Given the description of an element on the screen output the (x, y) to click on. 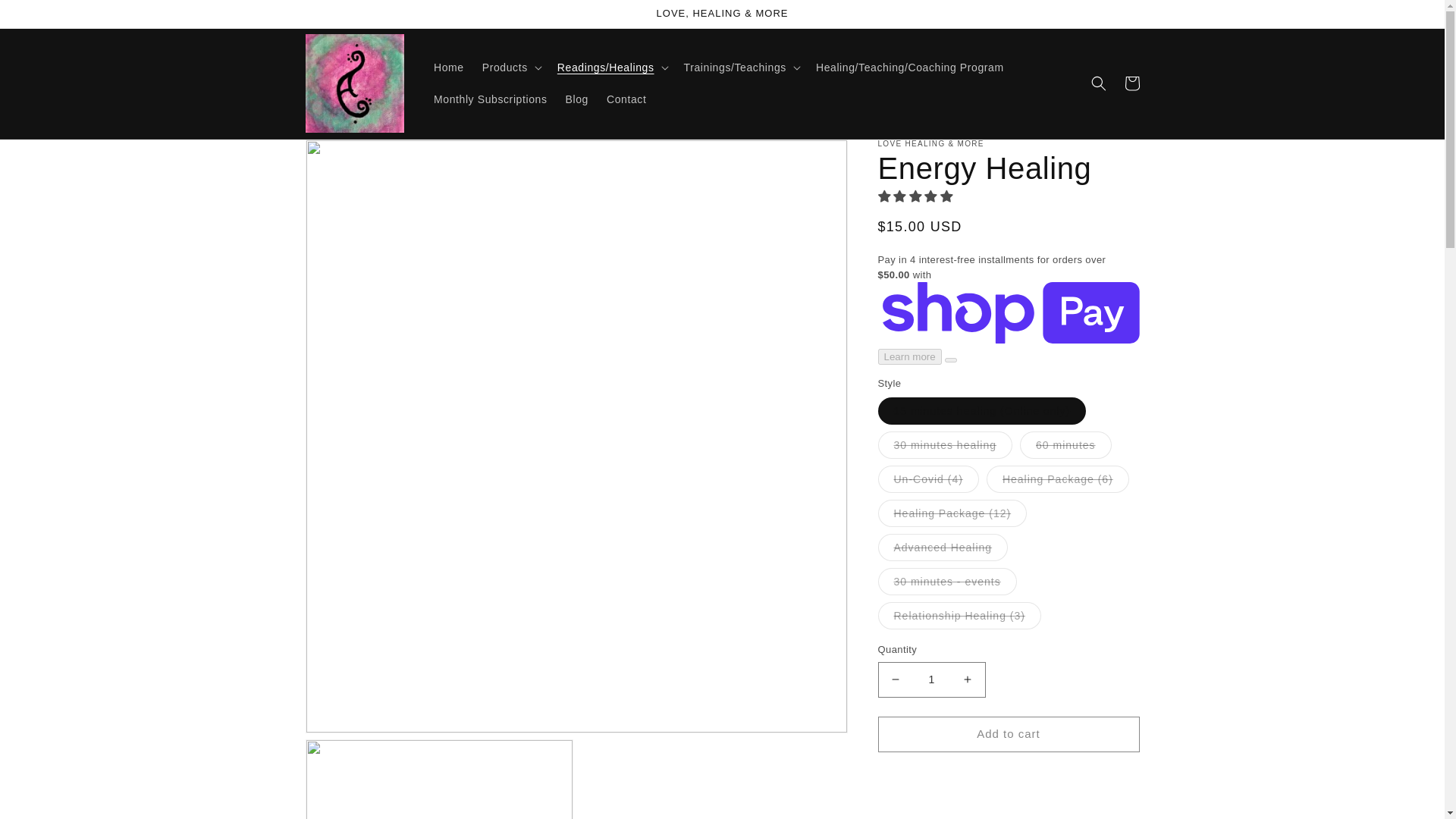
Home (449, 67)
Skip to content (45, 17)
1 (931, 679)
